Given the description of an element on the screen output the (x, y) to click on. 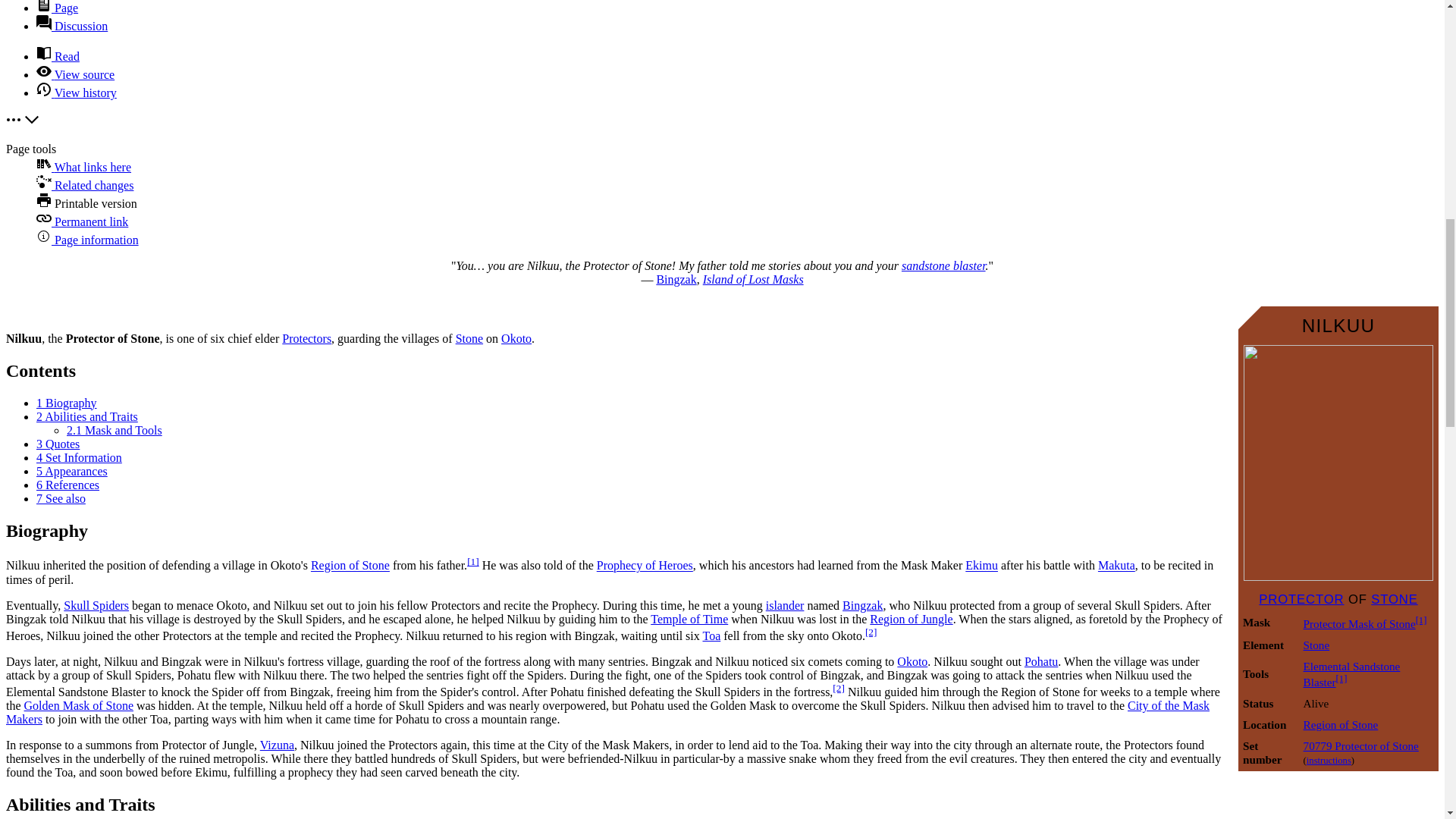
Discussion (71, 25)
View source (75, 74)
What links here (83, 166)
Related changes (84, 185)
Page (57, 7)
Printable version (86, 203)
View history (76, 92)
Read (58, 56)
